Given the description of an element on the screen output the (x, y) to click on. 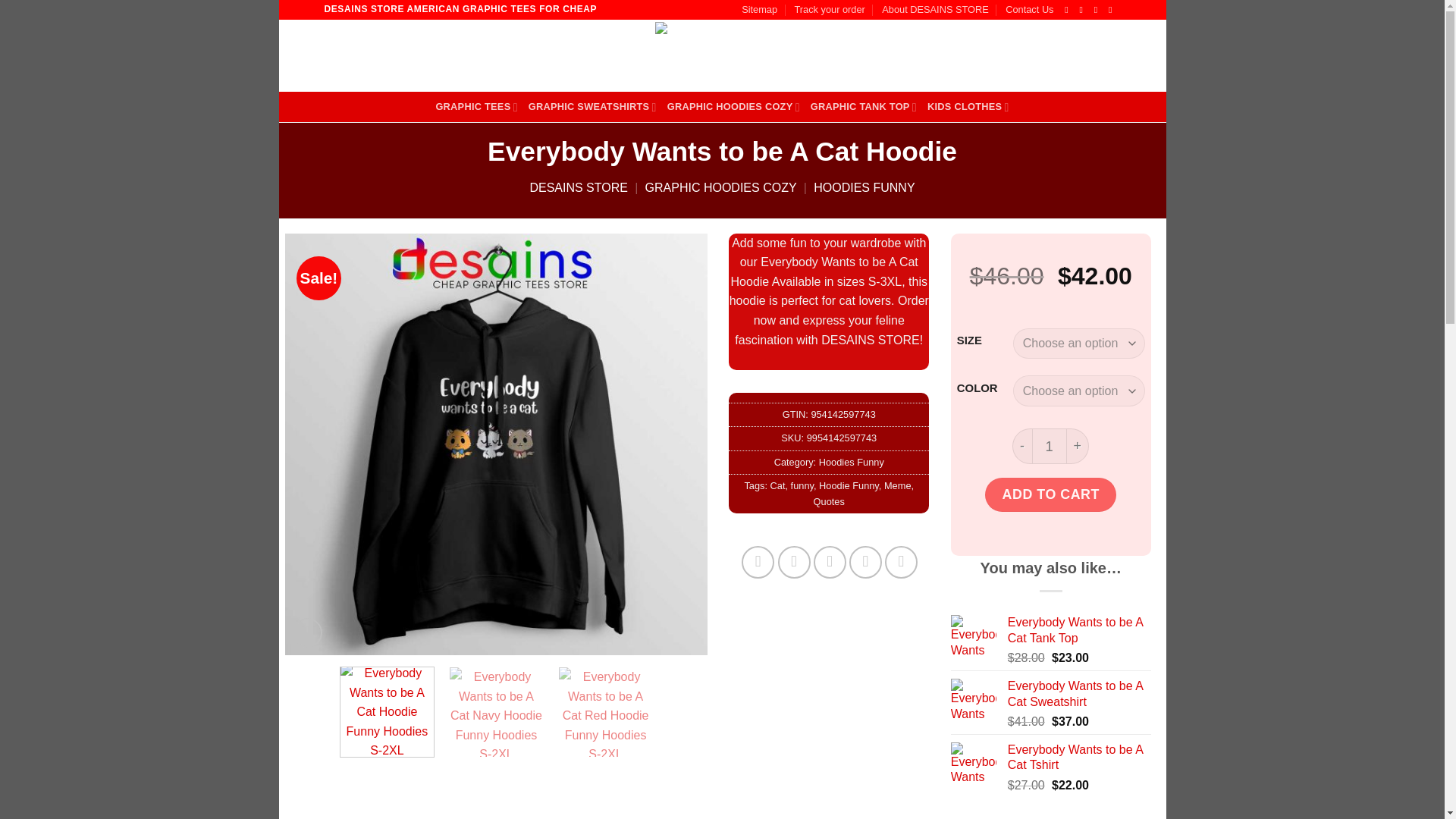
Track your order (828, 9)
Share on Facebook (757, 562)
Email to a Friend (829, 562)
Sitemap (759, 9)
DESAINS STORE - Popular American Graphic Tees For Cheap (722, 55)
Zoom (306, 632)
Pin on Pinterest (865, 562)
GRAPHIC TEES (475, 106)
Search (558, 55)
Share on Twitter (793, 562)
GRAPHIC SWEATSHIRTS (592, 106)
